Given the description of an element on the screen output the (x, y) to click on. 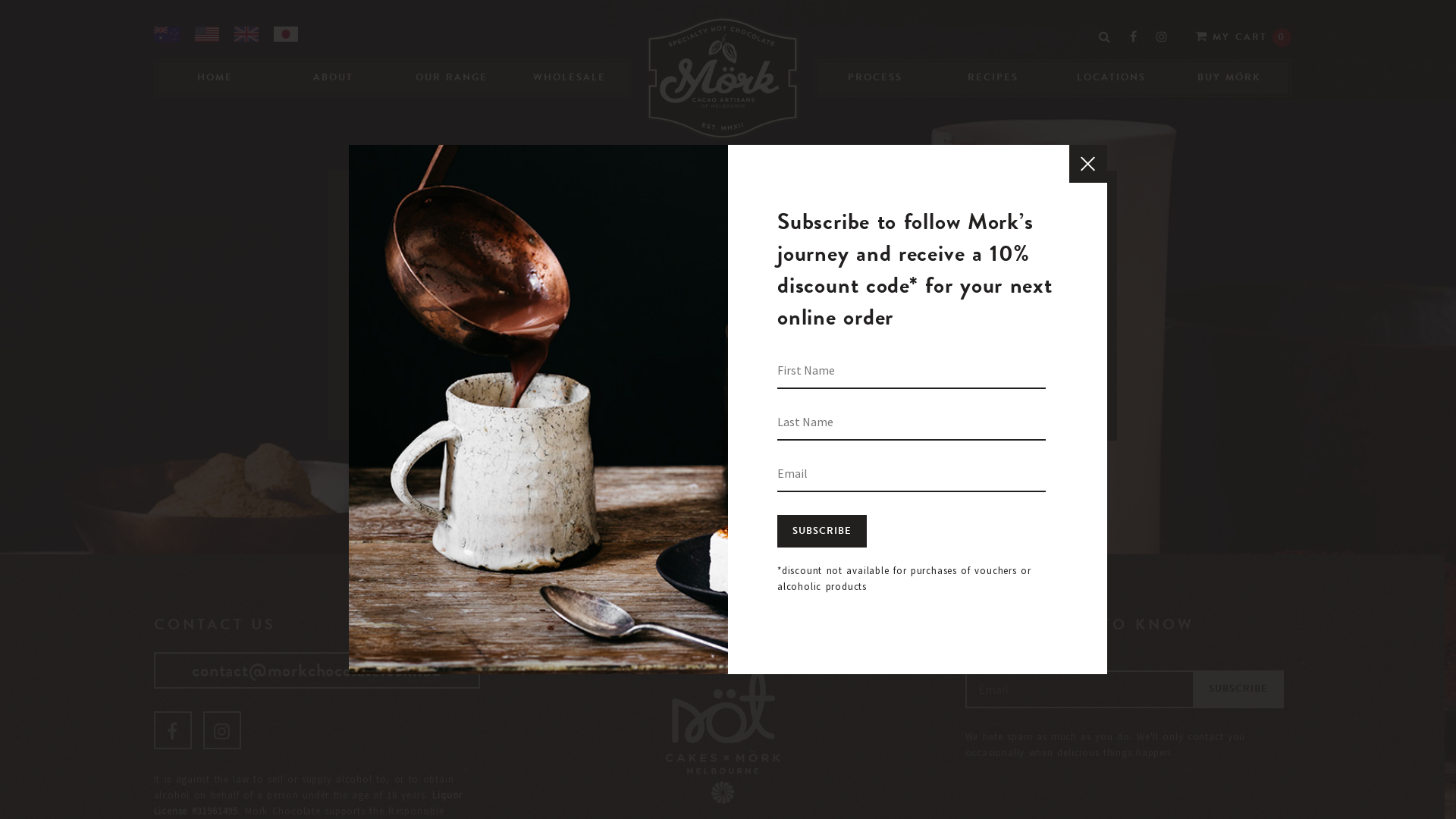
Subscribe Element type: text (1237, 689)
HOME Element type: text (214, 78)
WHOLESALE Element type: text (569, 78)
OUR RANGE Element type: text (451, 78)
ABOUT Element type: text (333, 78)
RECIPES Element type: text (992, 78)
contact@morkchocolate.com.au Element type: text (316, 670)
MY CART 0 Element type: text (1243, 36)
Close (Esc) Element type: hover (1088, 163)
Subscribe Element type: text (821, 530)
LOCATIONS Element type: text (1111, 78)
PROCESS Element type: text (875, 78)
